Given the description of an element on the screen output the (x, y) to click on. 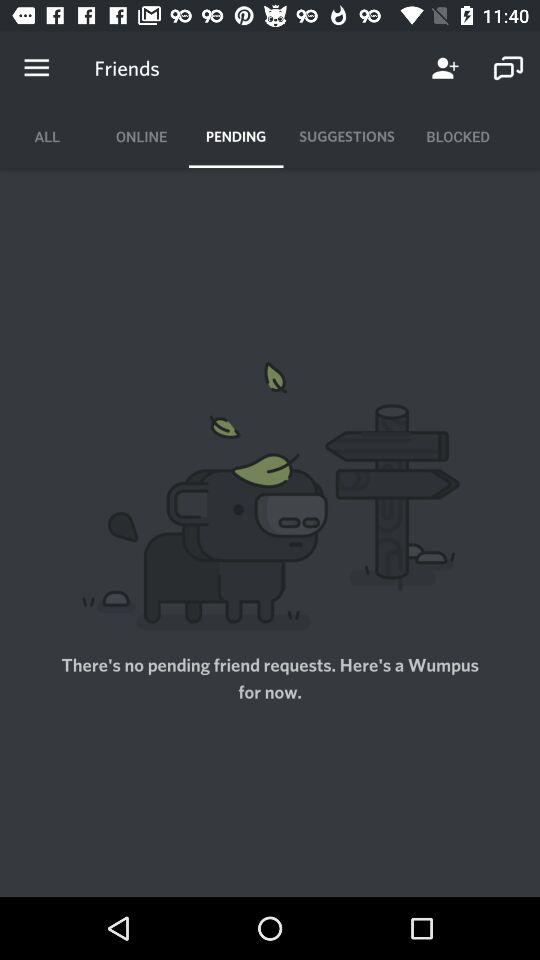
menu (36, 68)
